Given the description of an element on the screen output the (x, y) to click on. 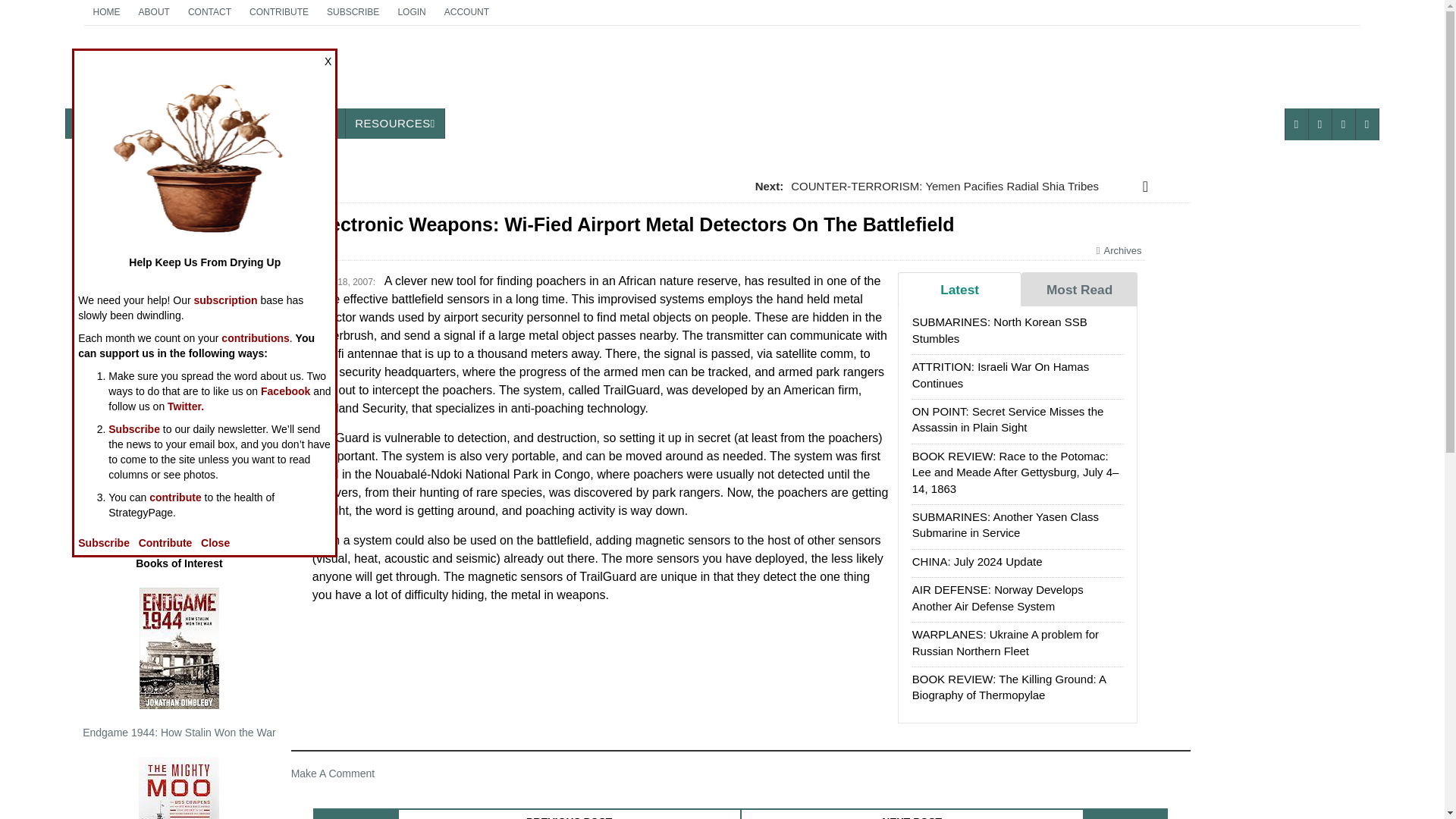
RESOURCES (395, 123)
LOGIN (410, 12)
PHOTOS (245, 123)
FEATURES (168, 123)
ABOUT (154, 12)
OTHER (313, 123)
HOME (181, 72)
ACCOUNT (106, 12)
SUBSCRIBE (466, 12)
CONTACT (352, 12)
NEWS (209, 12)
CONTRIBUTE (94, 123)
